Given the description of an element on the screen output the (x, y) to click on. 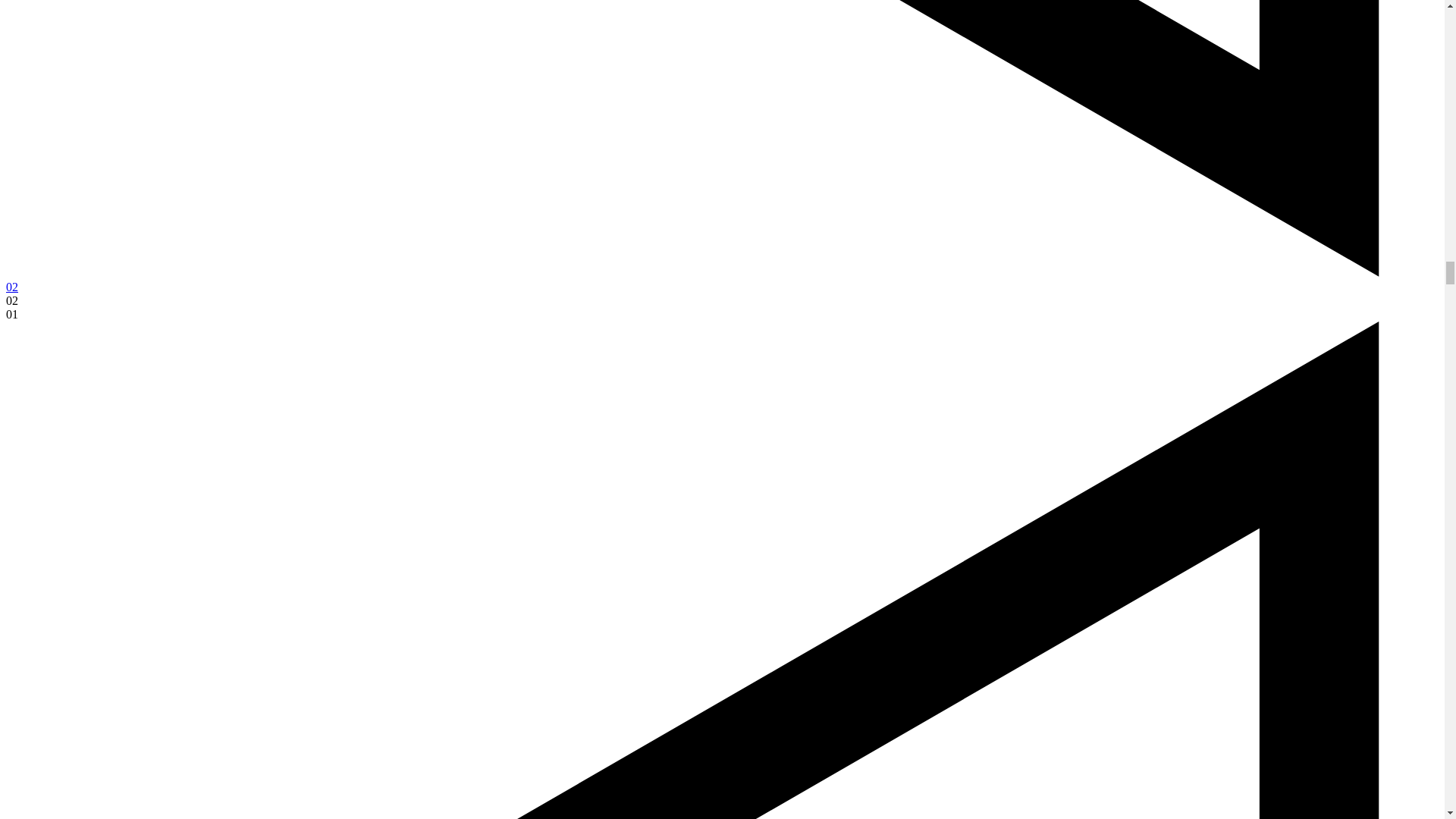
02 (11, 286)
